Given the description of an element on the screen output the (x, y) to click on. 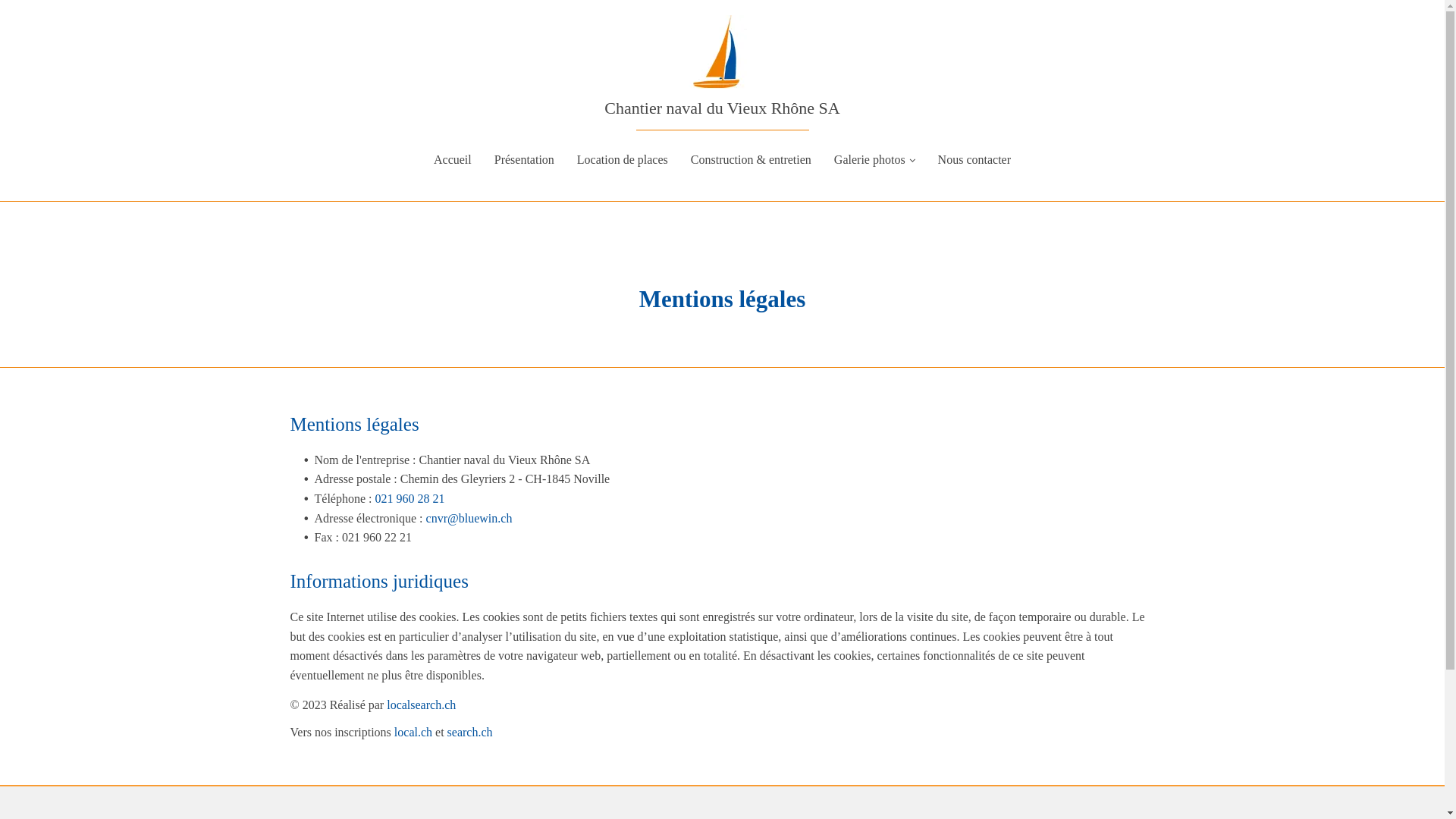
cnvr@bluewin.ch Element type: text (469, 517)
Location de places Element type: text (622, 159)
search.ch Element type: text (469, 731)
local.ch Element type: text (413, 731)
localsearch.ch Element type: text (420, 704)
Galerie photos Element type: text (874, 159)
Construction & entretien Element type: text (750, 159)
Nous contacter Element type: text (974, 159)
021 960 28 21 Element type: text (409, 498)
Accueil Element type: text (452, 159)
